Given the description of an element on the screen output the (x, y) to click on. 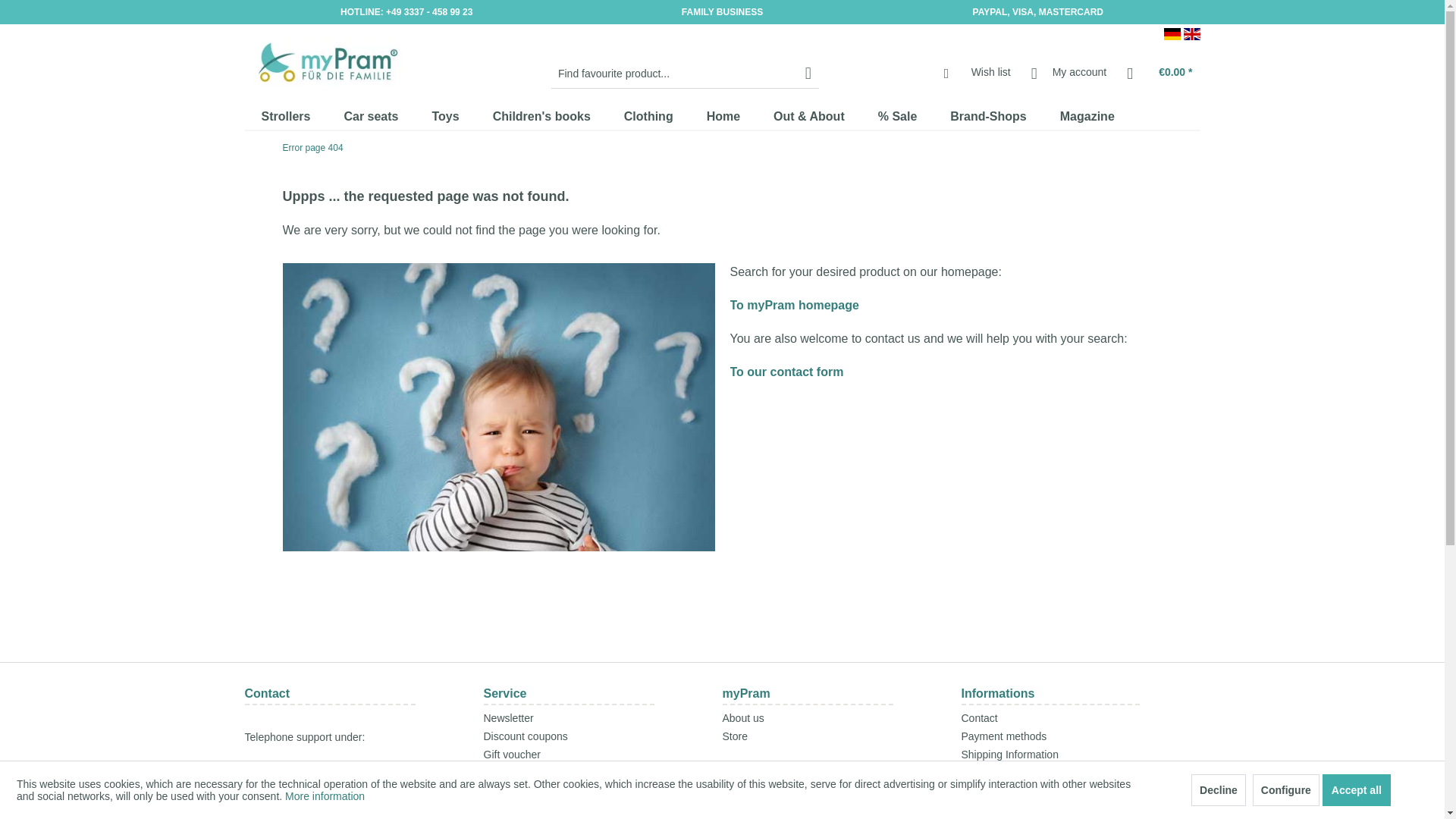
Car seats (370, 116)
Strollers (285, 116)
FAMILY BUSINESS (721, 11)
Home (723, 116)
Englisch (1190, 33)
Brand-Shops (987, 116)
Wish list (980, 73)
My account (1070, 73)
Toys (445, 116)
